Given the description of an element on the screen output the (x, y) to click on. 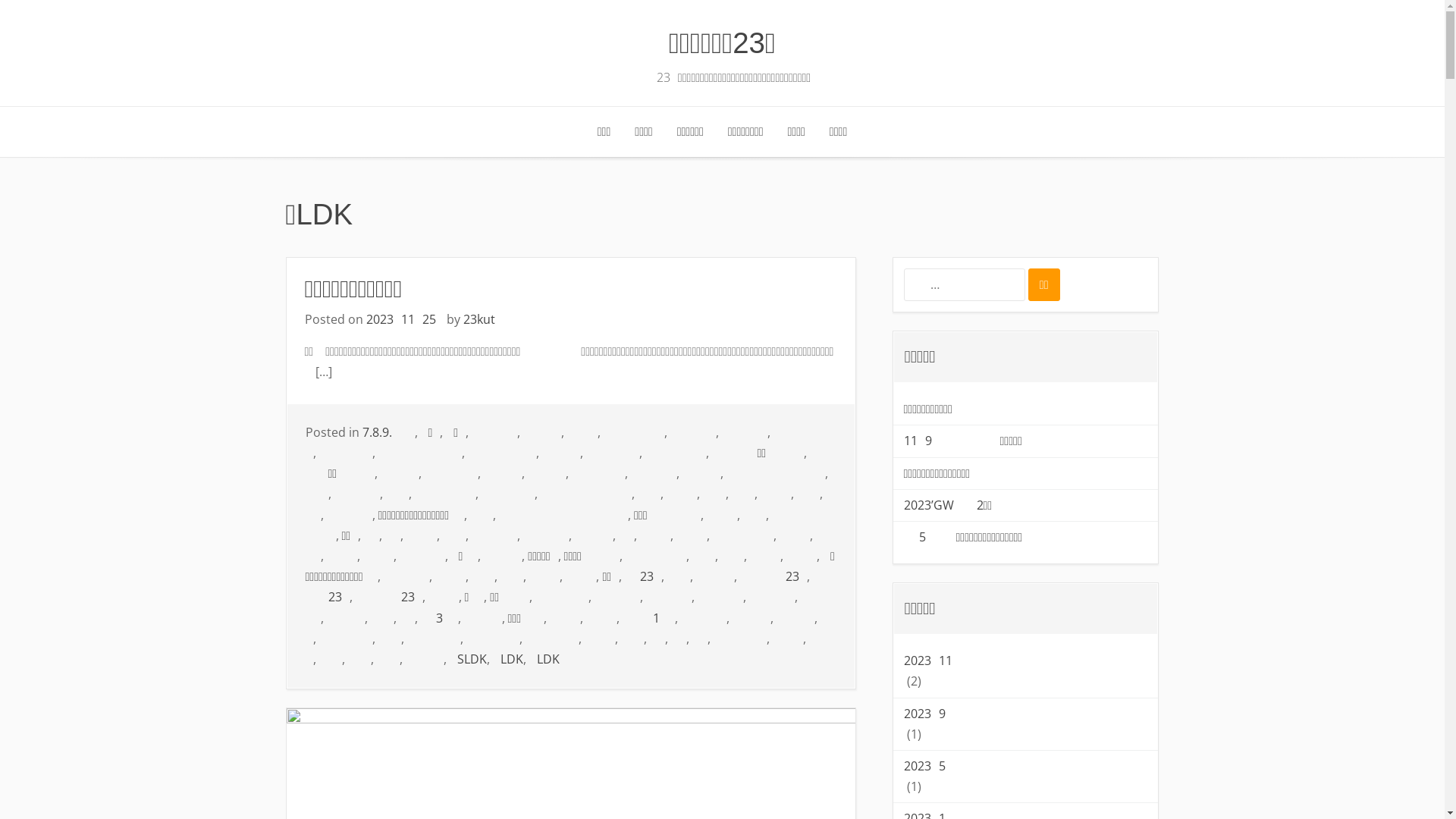
23kut Element type: text (478, 318)
